Given the description of an element on the screen output the (x, y) to click on. 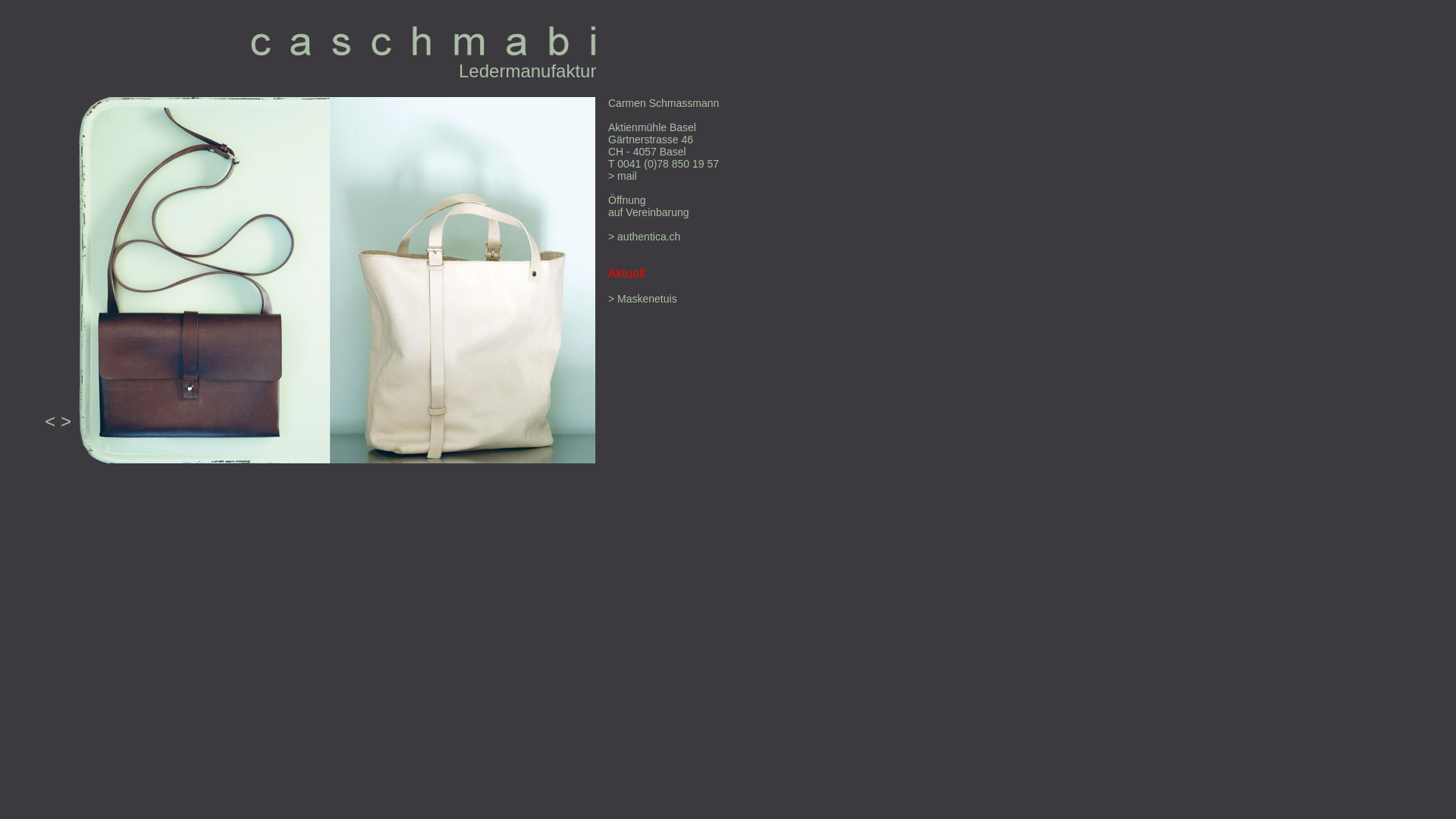
> mail Element type: text (622, 181)
< Element type: text (49, 421)
> authentica.ch Element type: text (644, 236)
> Element type: text (65, 421)
> Maskenetuis Element type: text (642, 298)
